Given the description of an element on the screen output the (x, y) to click on. 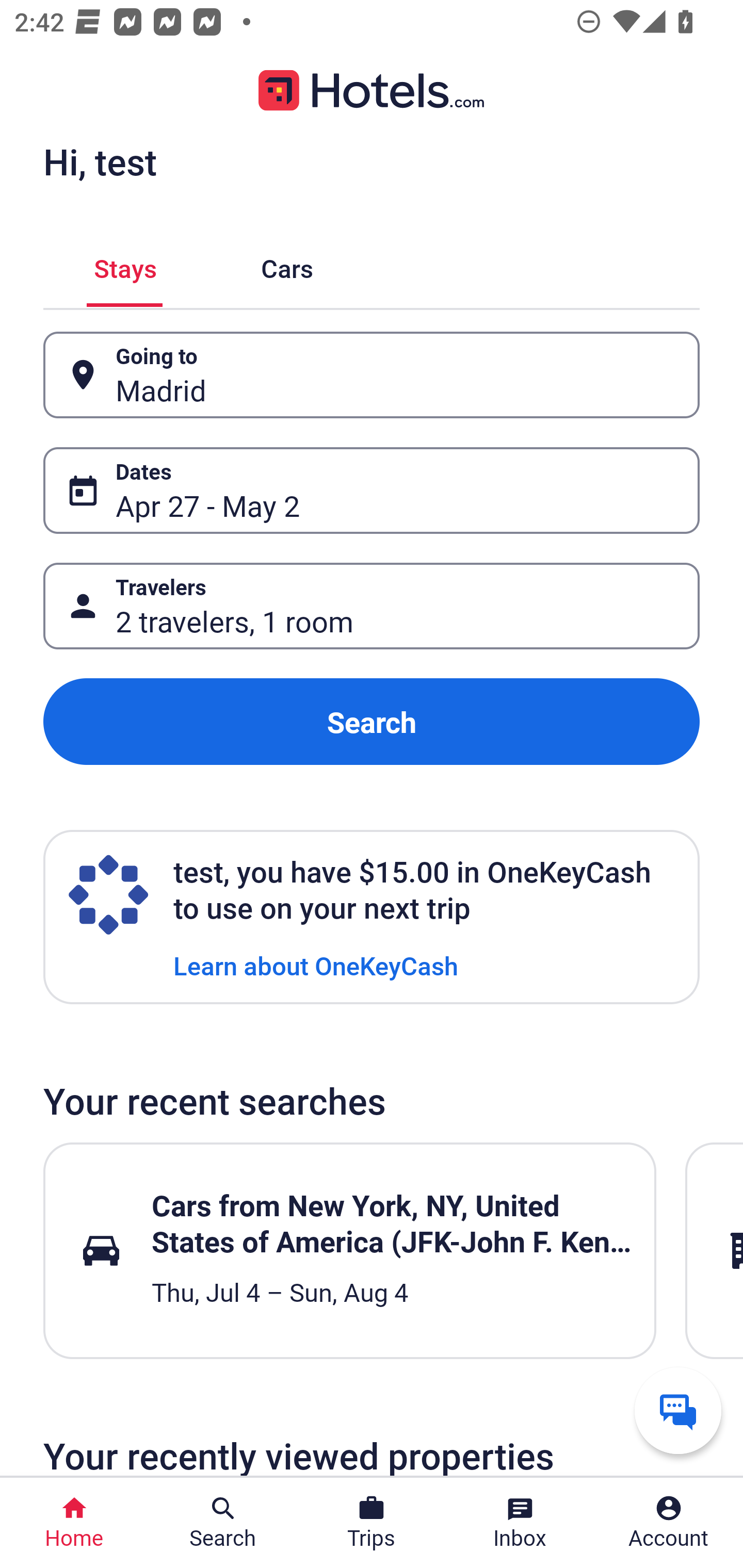
Hi, test (99, 161)
Cars (286, 265)
Going to Button Madrid (371, 375)
Dates Button Apr 27 - May 2 (371, 489)
Travelers Button 2 travelers, 1 room (371, 605)
Search (371, 721)
Learn about OneKeyCash Learn about OneKeyCash Link (315, 964)
Get help from a virtual agent (677, 1410)
Search Search Button (222, 1522)
Trips Trips Button (371, 1522)
Inbox Inbox Button (519, 1522)
Account Profile. Button (668, 1522)
